Given the description of an element on the screen output the (x, y) to click on. 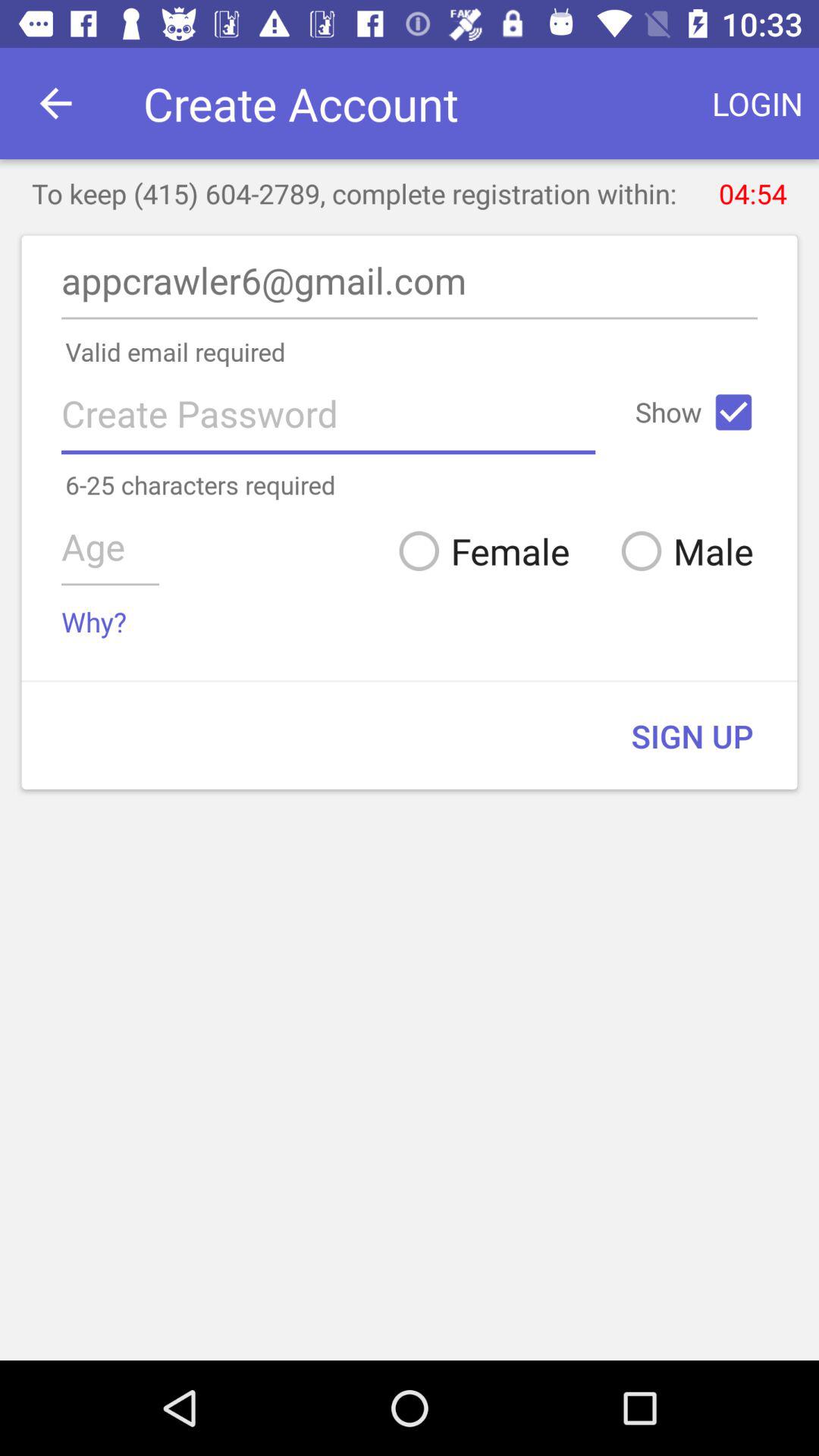
turn on the item to the left of male (478, 550)
